Given the description of an element on the screen output the (x, y) to click on. 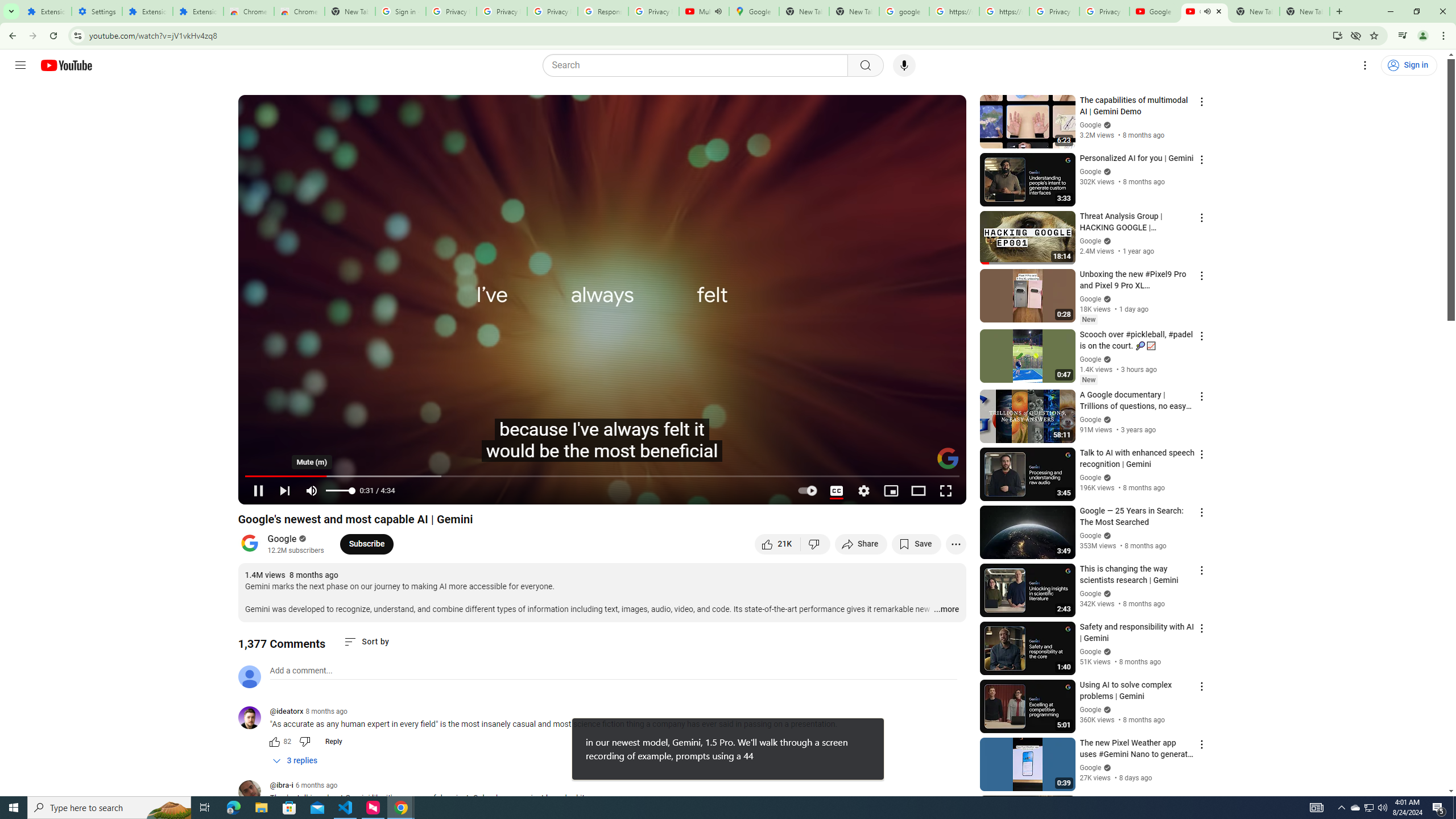
Google - YouTube (1154, 11)
New Tab (350, 11)
Verified (1106, 767)
Search with your voice (903, 65)
New Tab (1304, 11)
@ideatorx (253, 717)
Subtitles/closed captions unavailable (836, 490)
Default profile photo (248, 676)
